Given the description of an element on the screen output the (x, y) to click on. 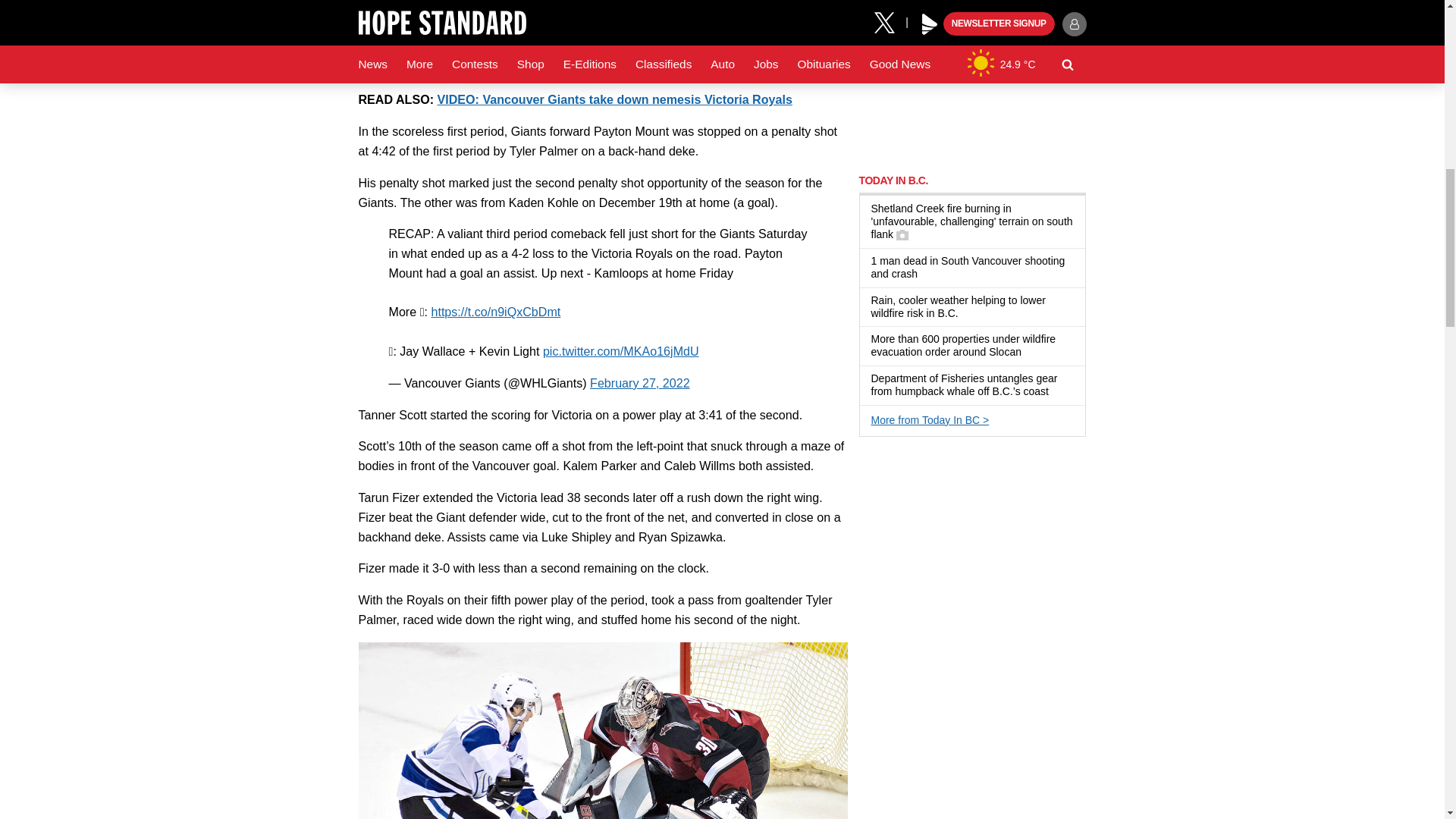
Has a gallery (902, 234)
